Given the description of an element on the screen output the (x, y) to click on. 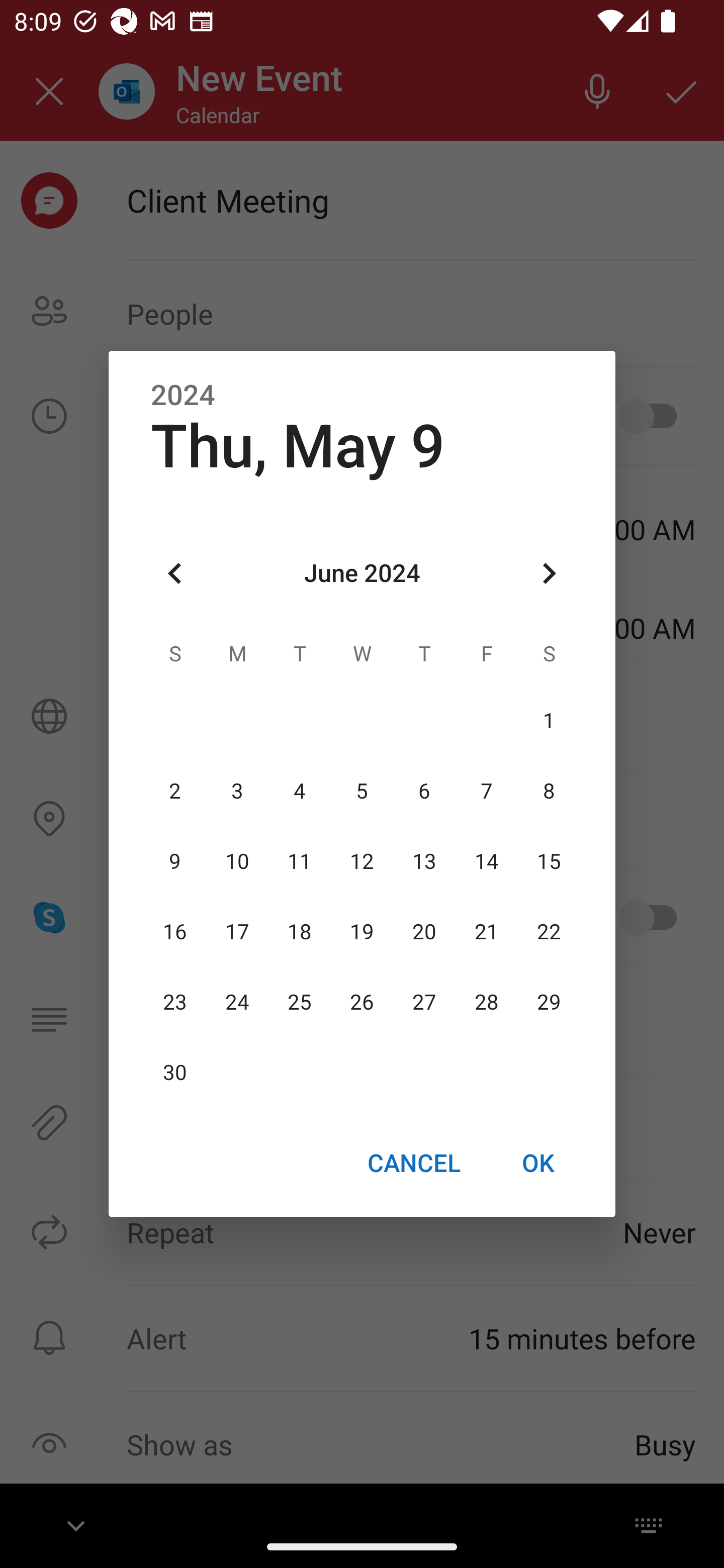
2024 (182, 395)
Thu, May 9 (297, 446)
Previous month (174, 573)
Next month (548, 573)
1 01 June 2024 (548, 720)
2 02 June 2024 (175, 790)
3 03 June 2024 (237, 790)
4 04 June 2024 (299, 790)
5 05 June 2024 (361, 790)
6 06 June 2024 (424, 790)
7 07 June 2024 (486, 790)
8 08 June 2024 (548, 790)
9 09 June 2024 (175, 861)
10 10 June 2024 (237, 861)
11 11 June 2024 (299, 861)
12 12 June 2024 (361, 861)
13 13 June 2024 (424, 861)
14 14 June 2024 (486, 861)
15 15 June 2024 (548, 861)
16 16 June 2024 (175, 931)
17 17 June 2024 (237, 931)
18 18 June 2024 (299, 931)
19 19 June 2024 (361, 931)
20 20 June 2024 (424, 931)
21 21 June 2024 (486, 931)
22 22 June 2024 (548, 931)
23 23 June 2024 (175, 1002)
24 24 June 2024 (237, 1002)
25 25 June 2024 (299, 1002)
26 26 June 2024 (361, 1002)
27 27 June 2024 (424, 1002)
28 28 June 2024 (486, 1002)
29 29 June 2024 (548, 1002)
30 30 June 2024 (175, 1073)
CANCEL (413, 1162)
OK (537, 1162)
